Given the description of an element on the screen output the (x, y) to click on. 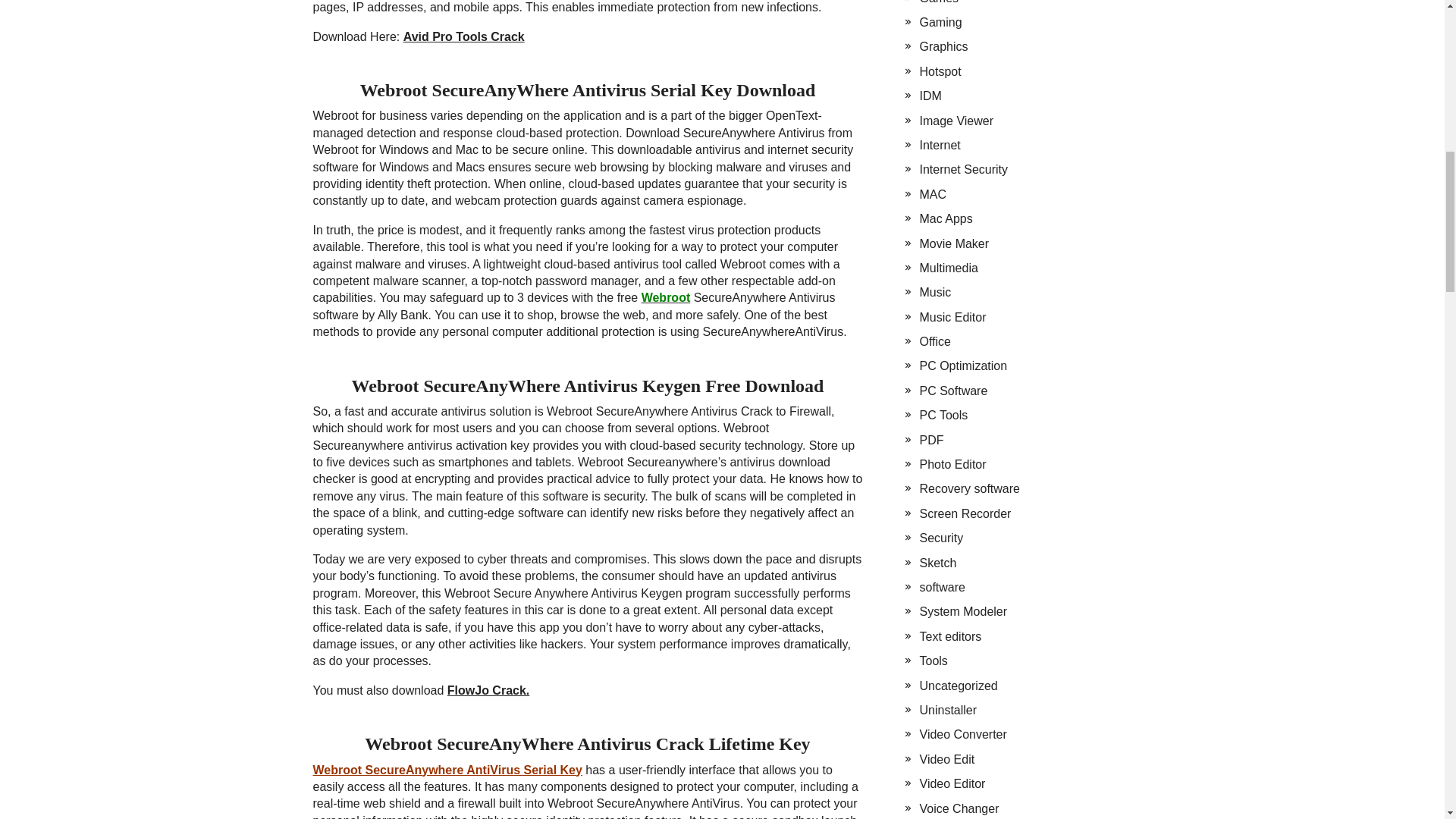
Webroot SecureAnywhere AntiVirus Serial Key (446, 769)
FlowJo Crack. (487, 689)
Avid Pro Tools Crack (463, 36)
Webroot (666, 297)
